Given the description of an element on the screen output the (x, y) to click on. 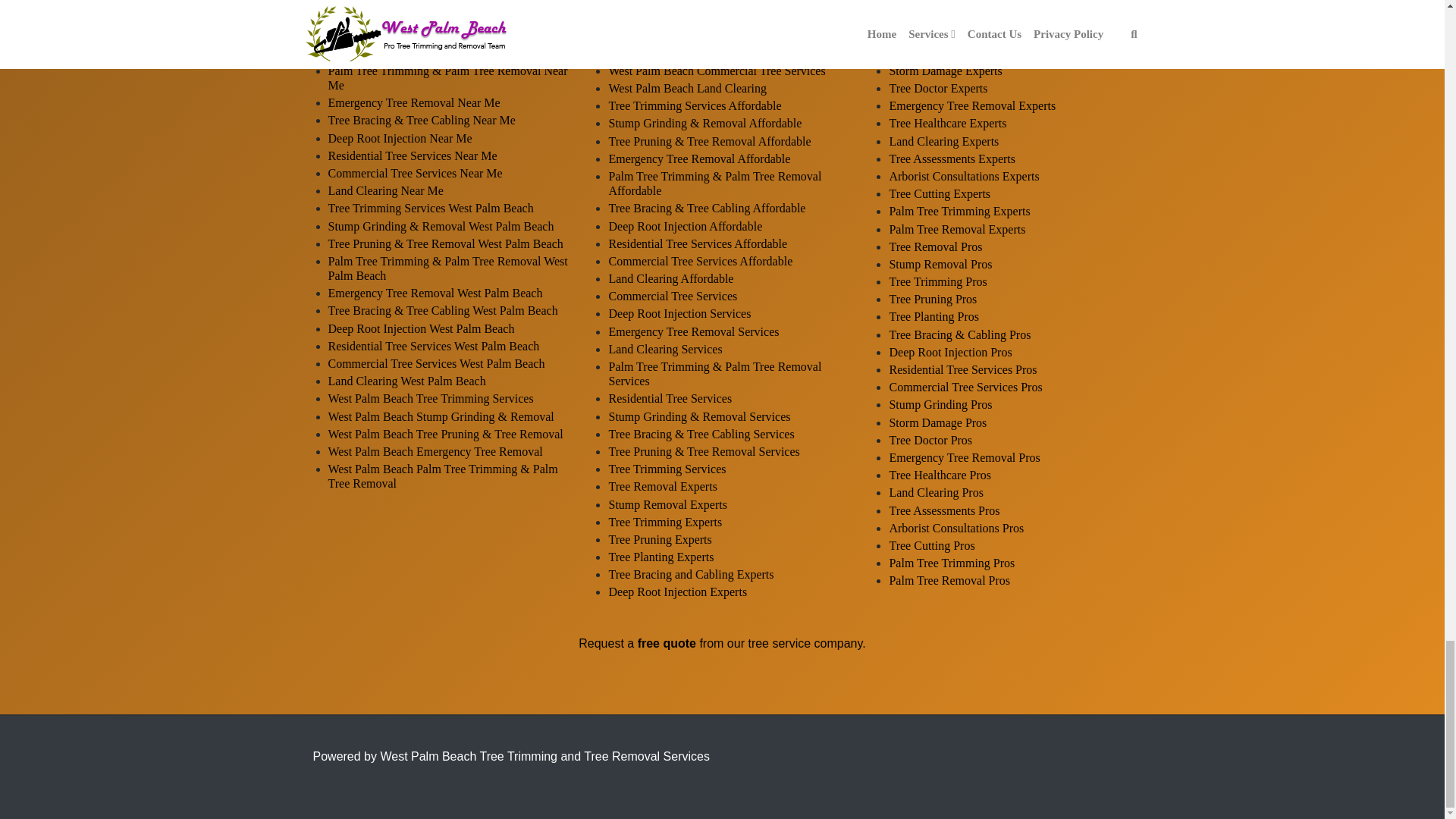
Deep Root Injection Near Me (399, 137)
Tree Trimming Services Near Me (408, 17)
Emergency Tree Removal Near Me (413, 102)
